Given the description of an element on the screen output the (x, y) to click on. 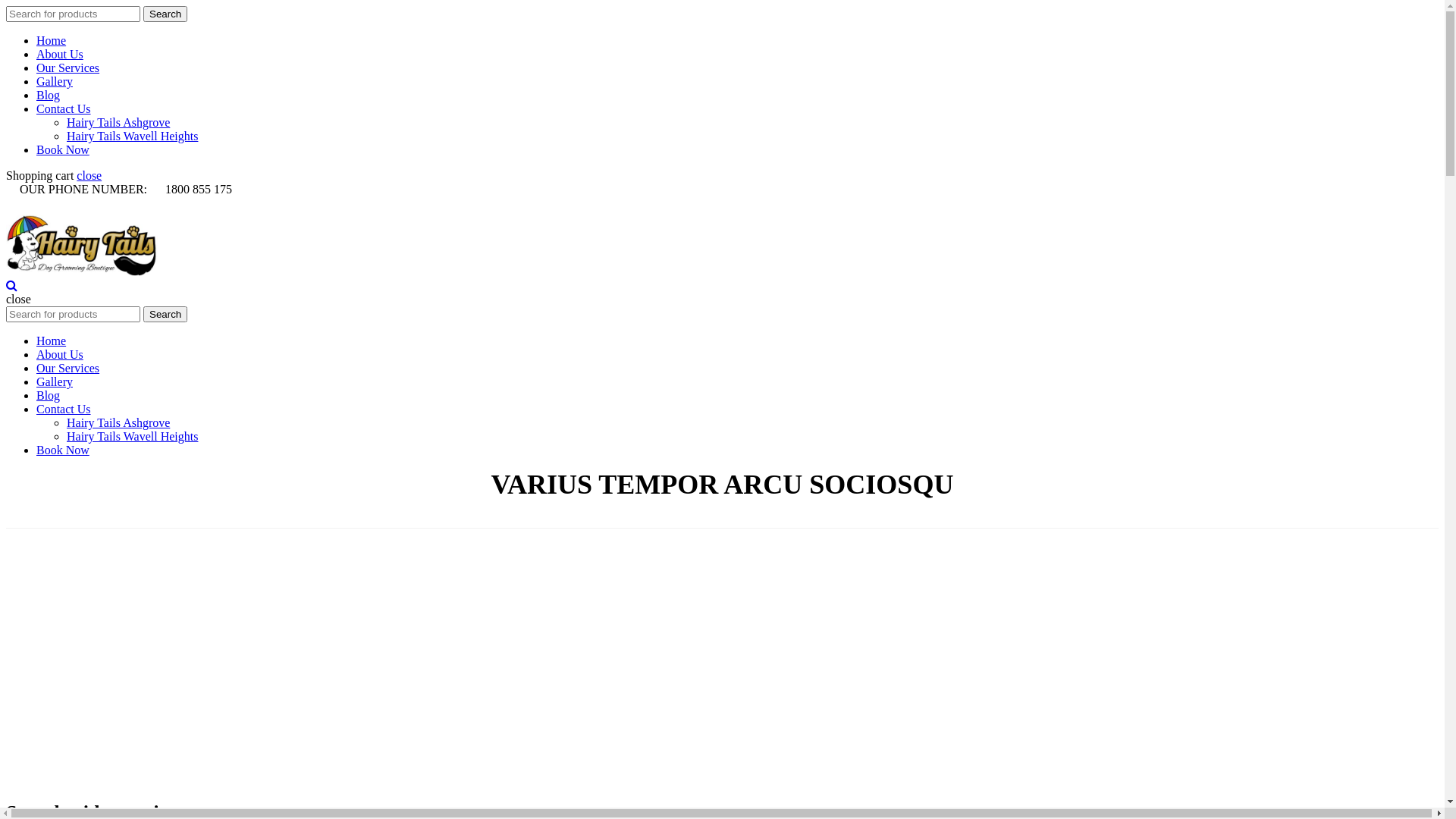
Blog Element type: text (47, 395)
Contact Us Element type: text (63, 108)
Hairy Tails Ashgrove Element type: text (117, 422)
Blog Element type: text (47, 255)
Hairy Tails Ashgrove Element type: text (117, 122)
Search Element type: text (165, 314)
close Element type: text (88, 175)
Book Now Element type: text (62, 149)
Gallery Element type: text (54, 81)
Our Services Element type: text (67, 367)
Home Element type: text (50, 340)
Varius tempor arcu sociosqu Element type: text (678, 509)
Delirius // mural painting Element type: hover (195, 664)
About Us Element type: text (59, 354)
Gallery Element type: text (54, 381)
Hairy Tails Wavell Heights Element type: text (131, 135)
Our Services Element type: text (67, 67)
Search Element type: text (165, 13)
Hairy Tails Wavell Heights Element type: text (131, 435)
Home Element type: text (592, 510)
Book Now Element type: text (62, 449)
Contact Us Element type: text (63, 408)
My account Element type: text (69, 223)
Home Element type: text (50, 40)
About Us Element type: text (59, 53)
Blog Element type: text (47, 94)
